Given the description of an element on the screen output the (x, y) to click on. 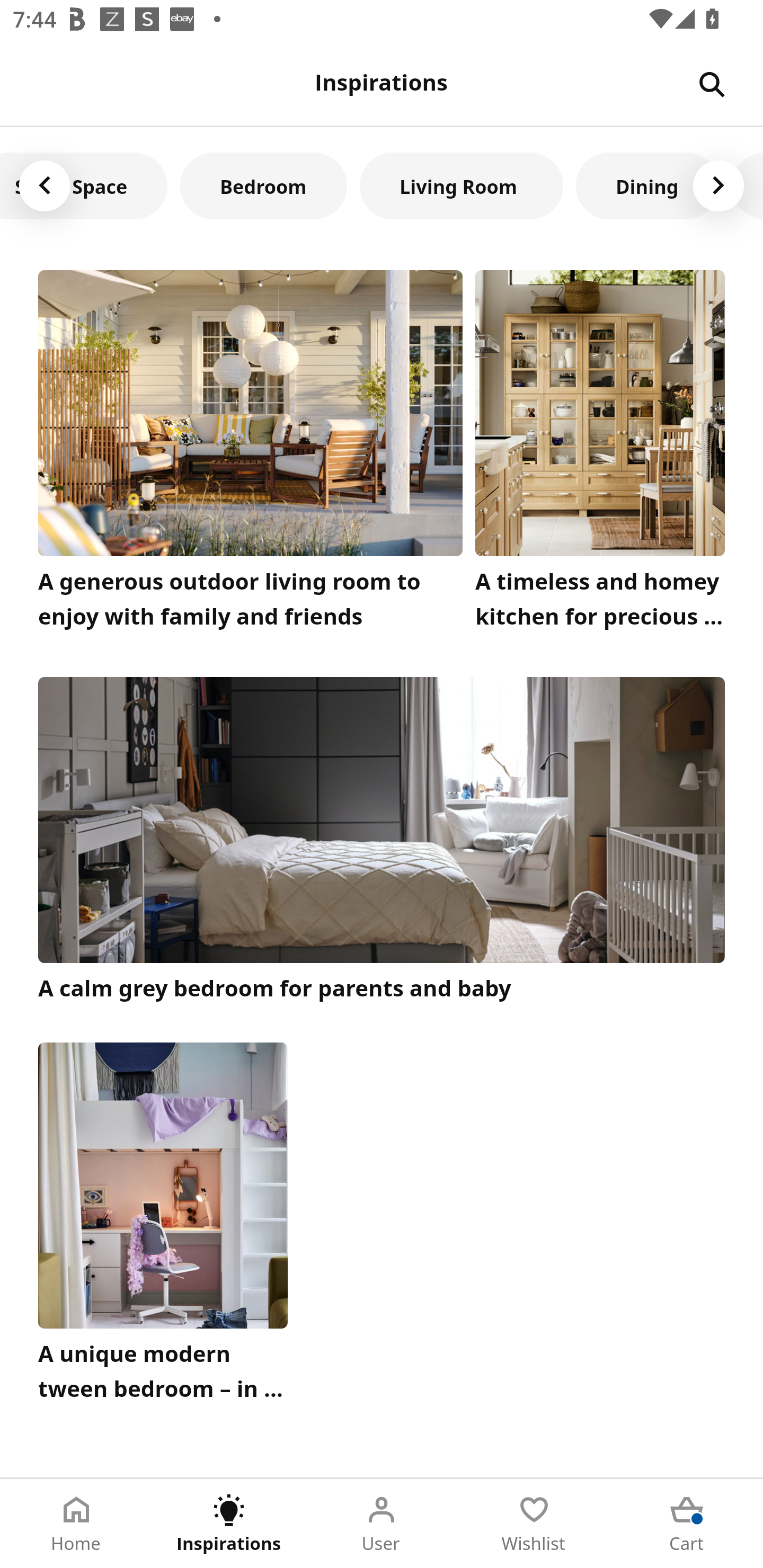
Bedroom (263, 185)
Living Room  (461, 185)
A calm grey bedroom for parents and baby (381, 841)
A unique modern tween bedroom – in a nook (162, 1226)
Home
Tab 1 of 5 (76, 1522)
Inspirations
Tab 2 of 5 (228, 1522)
User
Tab 3 of 5 (381, 1522)
Wishlist
Tab 4 of 5 (533, 1522)
Cart
Tab 5 of 5 (686, 1522)
